Given the description of an element on the screen output the (x, y) to click on. 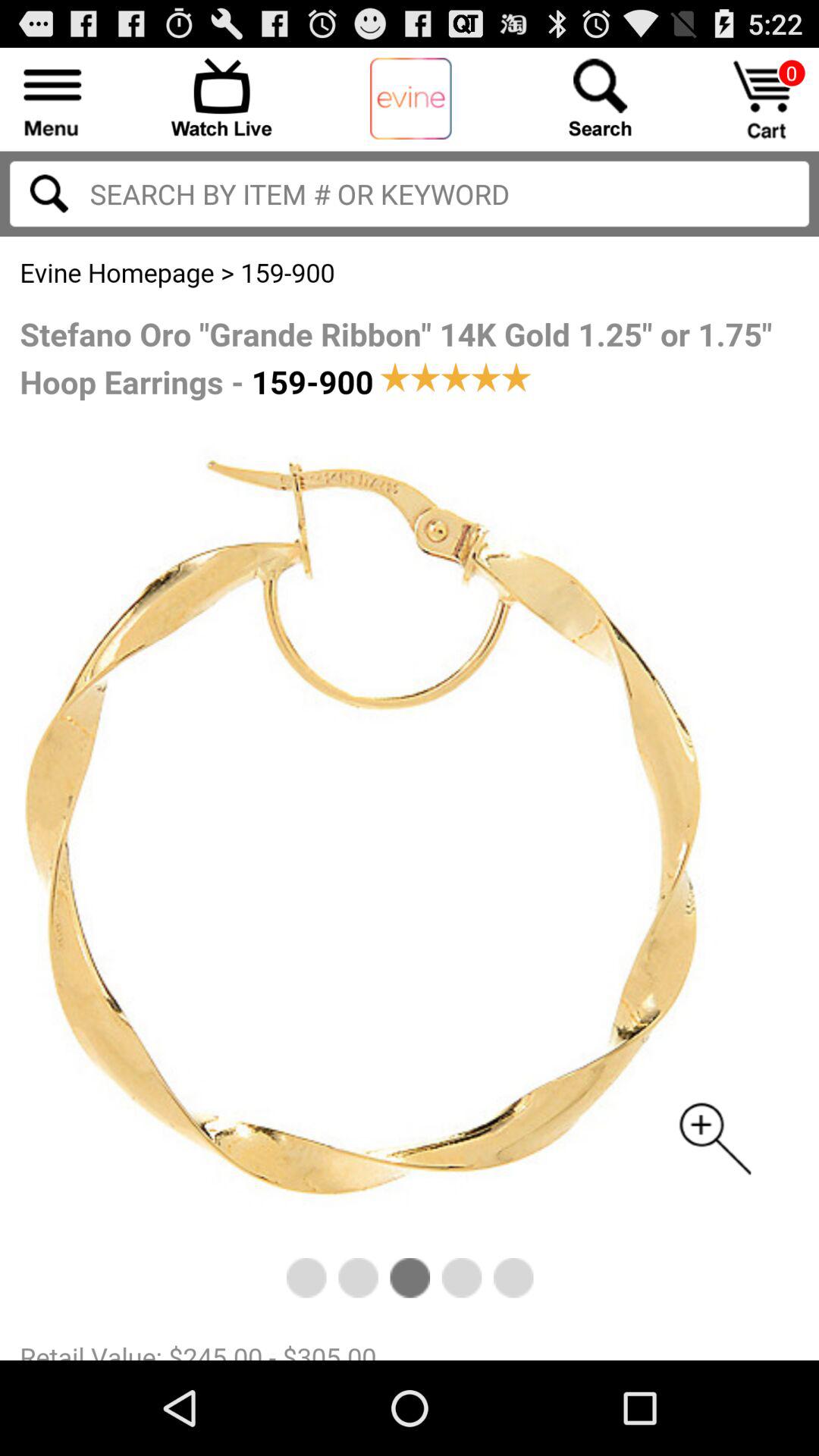
search item (409, 193)
